Given the description of an element on the screen output the (x, y) to click on. 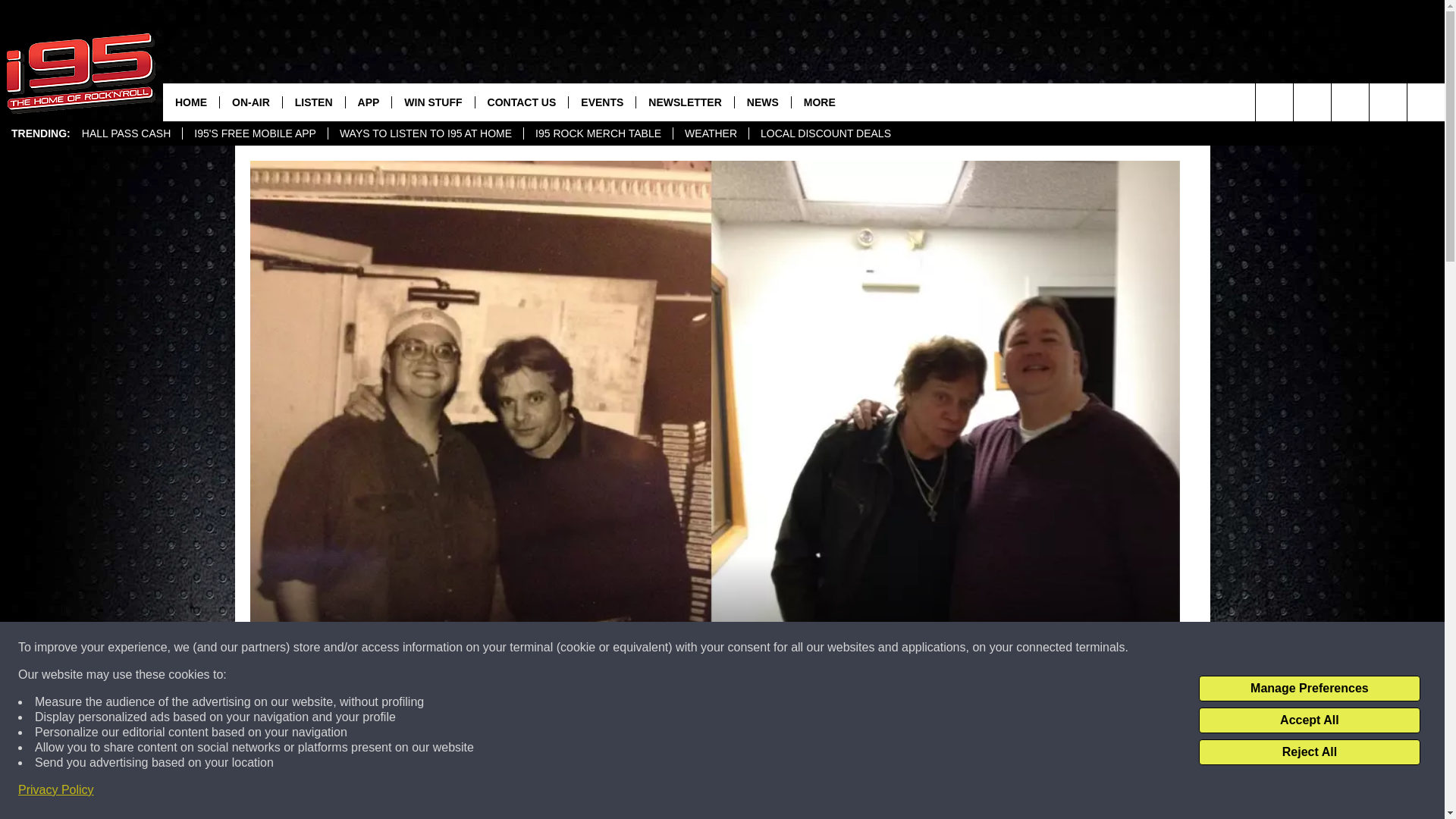
Share on Facebook (517, 791)
WIN STUFF (432, 102)
APP (368, 102)
Reject All (1309, 751)
Privacy Policy (55, 789)
WEATHER (710, 133)
I95'S FREE MOBILE APP (254, 133)
I95 ROCK MERCH TABLE (597, 133)
WAYS TO LISTEN TO I95 AT HOME (424, 133)
ON-AIR (250, 102)
HALL PASS CASH (126, 133)
LISTEN (313, 102)
Accept All (1309, 720)
Share on Twitter (912, 791)
HOME (191, 102)
